Given the description of an element on the screen output the (x, y) to click on. 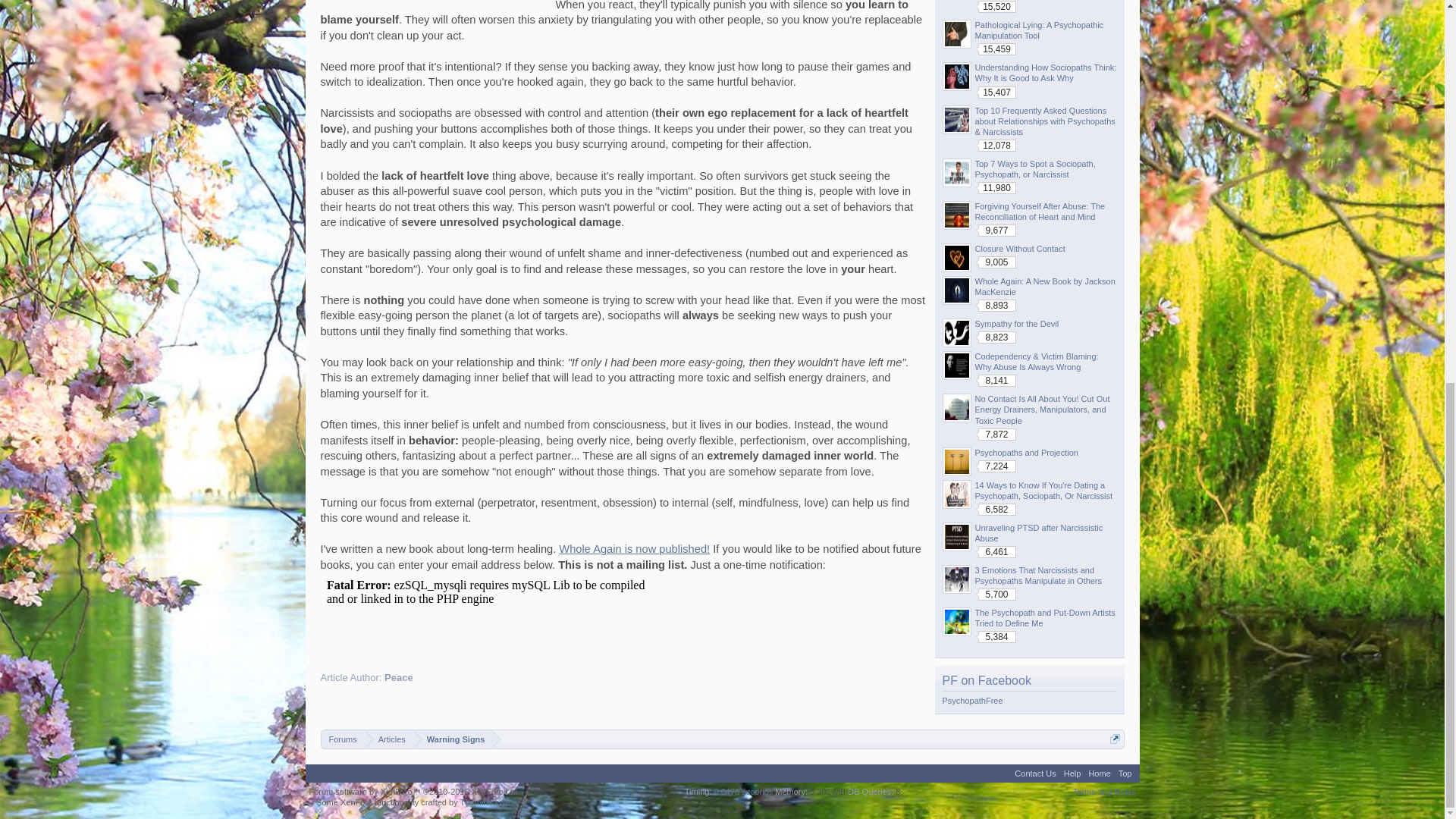
Whole Again is now published! (633, 548)
Premium XenForo Add-ons (484, 801)
Peace (398, 677)
